Given the description of an element on the screen output the (x, y) to click on. 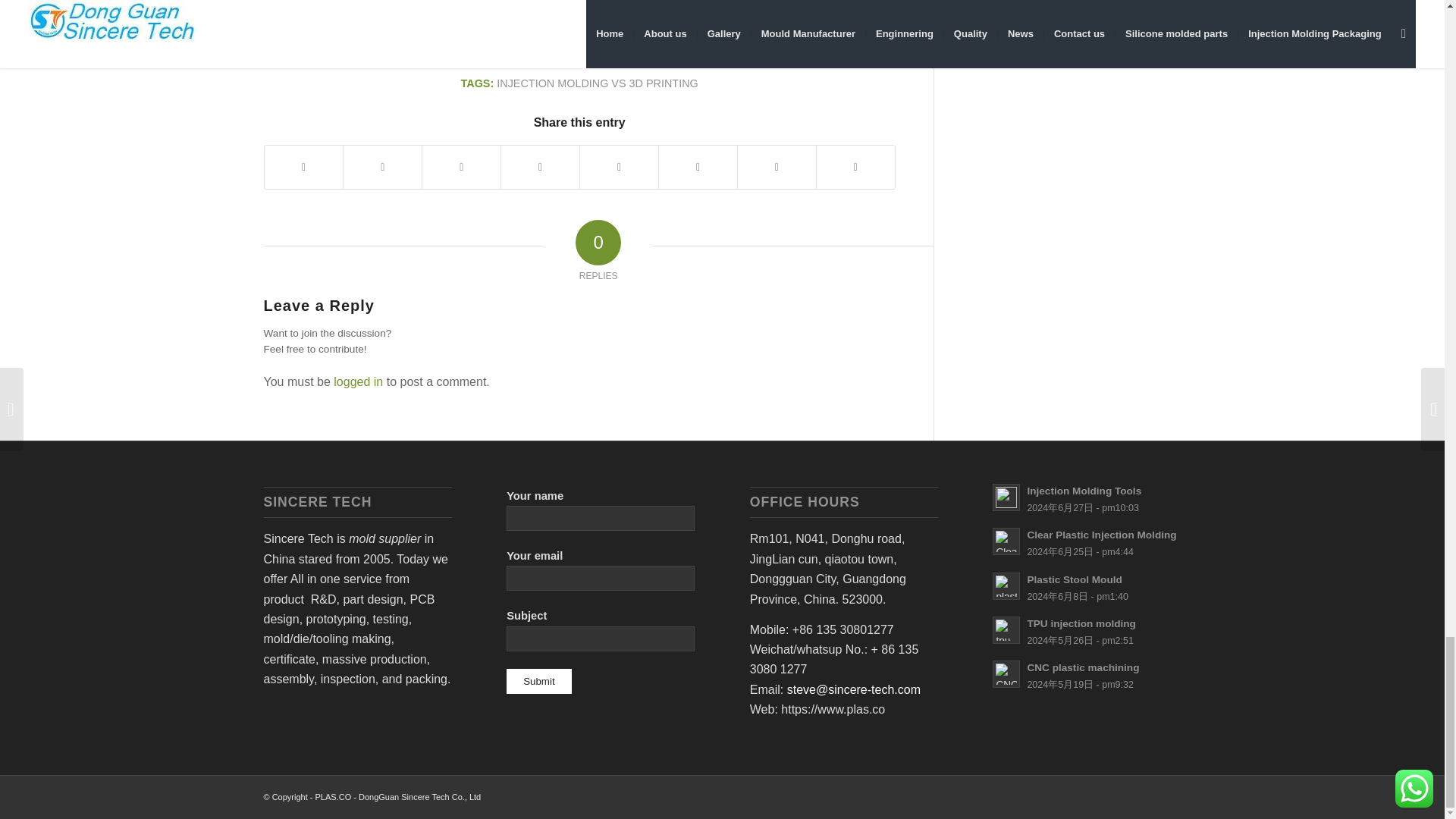
0 COMMENTS (590, 48)
Submit (538, 681)
ADMIN (669, 48)
Posts by admin (669, 48)
INJECTION MOLDING VS 3D PRINTING (596, 82)
